Given the description of an element on the screen output the (x, y) to click on. 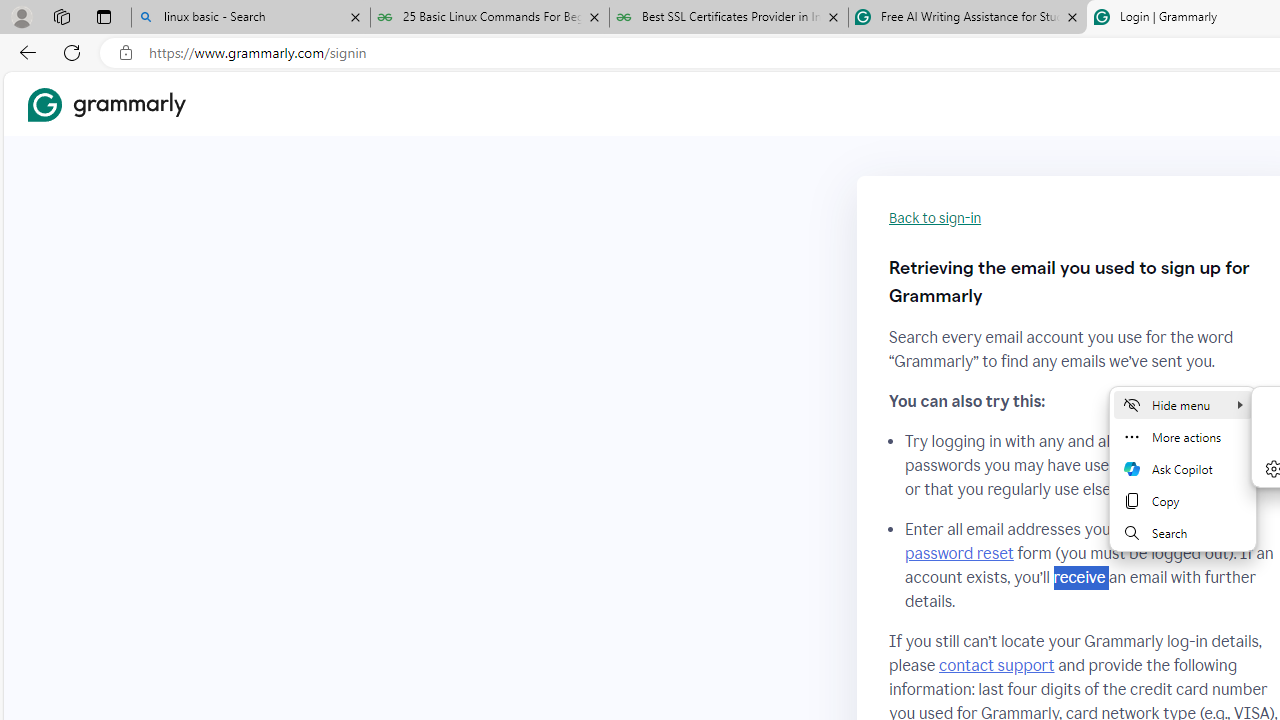
Grammarly Home (106, 104)
Ask Copilot (1182, 468)
Copy (1182, 500)
More actions (1182, 436)
Grammarly Home (106, 103)
Hide menu (1182, 404)
password reset (958, 553)
